Given the description of an element on the screen output the (x, y) to click on. 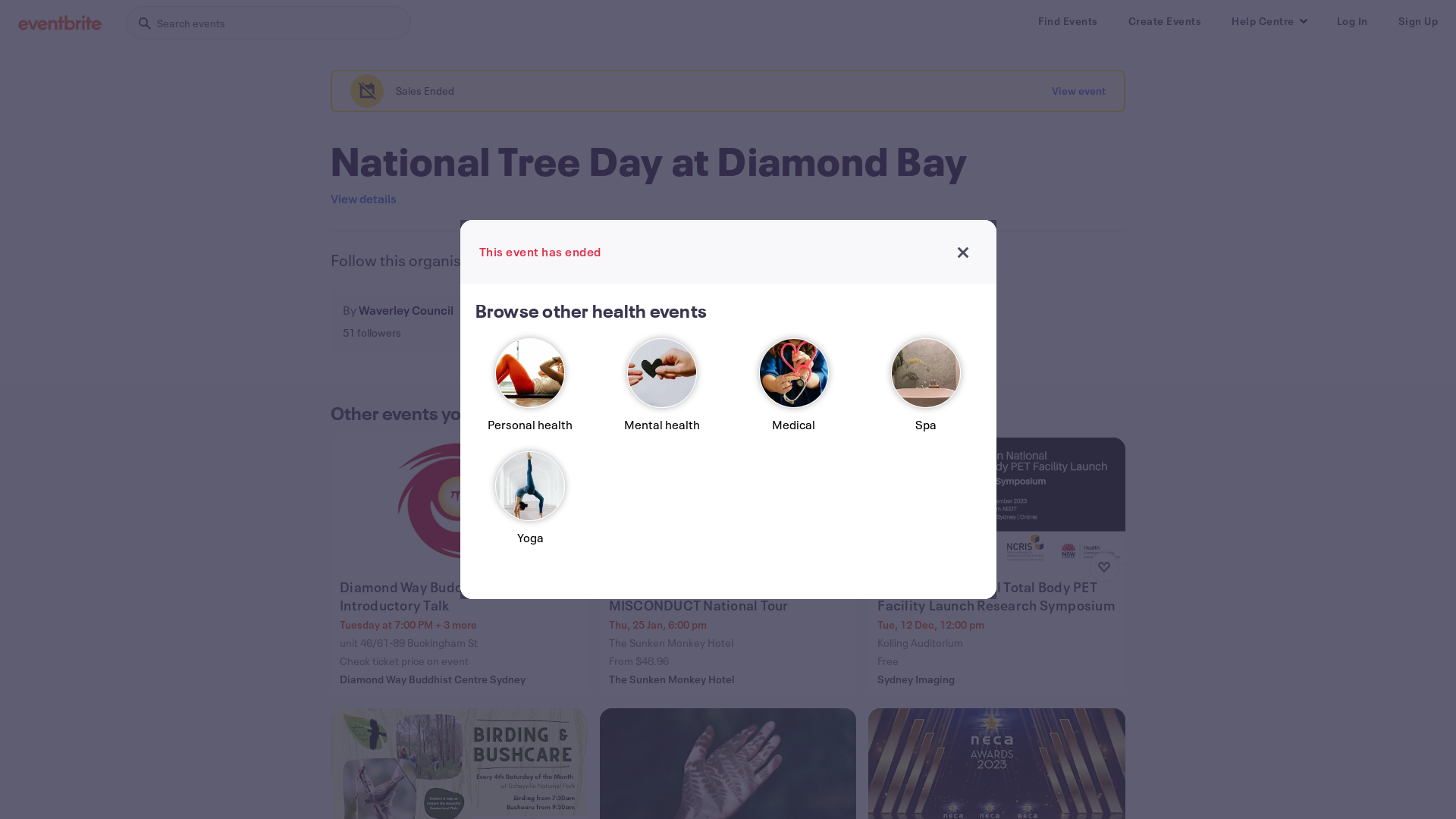
Find Events Element type: text (1068, 21)
Personal health Element type: text (530, 391)
View event Element type: text (1078, 90)
Log In Element type: text (1351, 21)
Search events Element type: text (268, 22)
Mental health Element type: text (661, 391)
Yoga Element type: text (530, 504)
Follow Element type: text (505, 320)
Spa Element type: text (925, 391)
Create Events Element type: text (1165, 21)
View details Element type: text (363, 198)
Medical Element type: text (793, 391)
Diamond Way Buddhism: An Introductory Talk Element type: text (460, 595)
Sign Up Element type: text (1418, 21)
Eventbrite Element type: hover (59, 22)
Screaming Jets PROFESSIONAL MISCONDUCT National Tour Element type: text (729, 595)
